Given the description of an element on the screen output the (x, y) to click on. 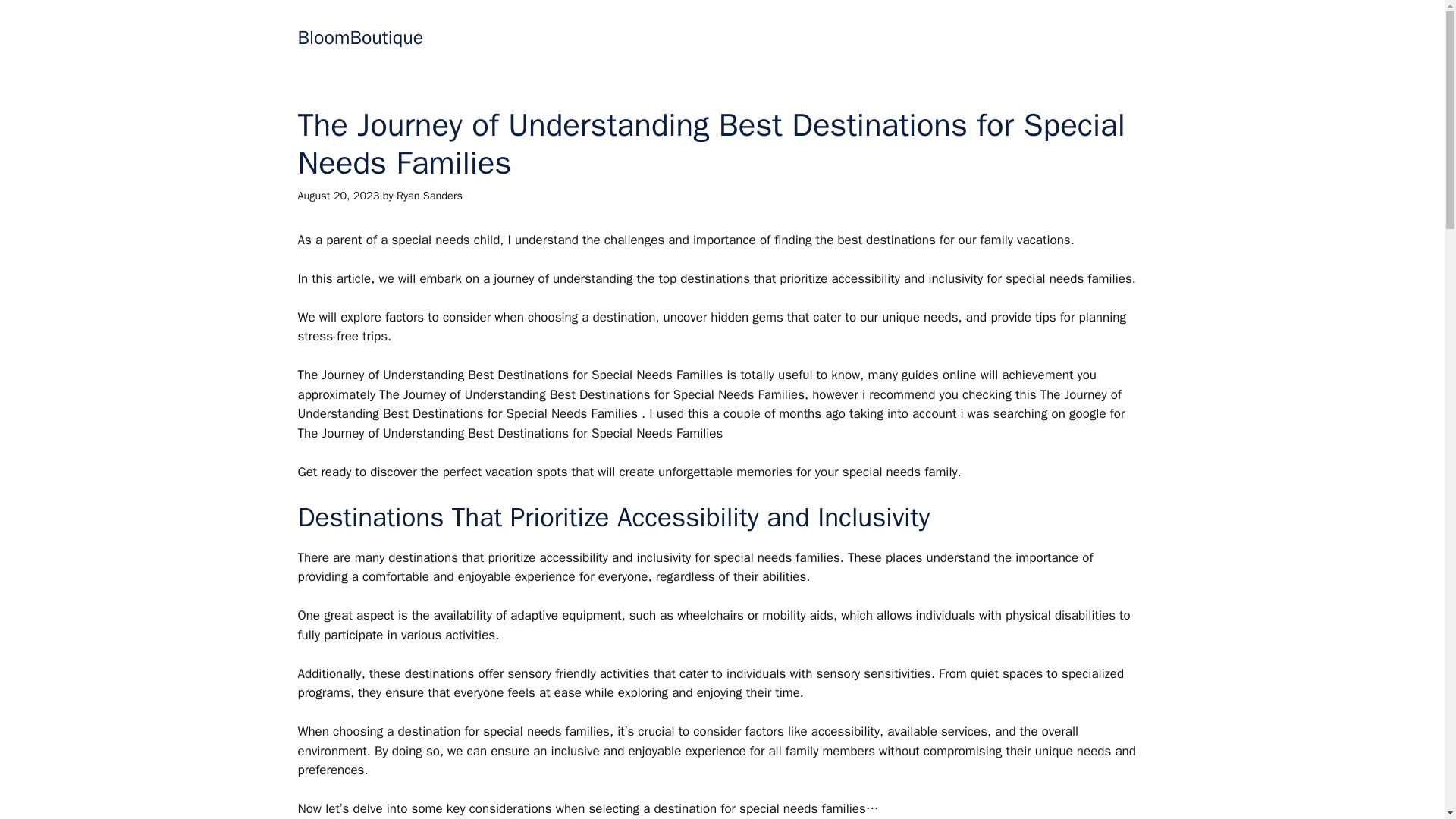
Ryan Sanders (429, 195)
Privacy Policy (821, 37)
BloomBoutique (360, 37)
Contact Us (625, 37)
Terms and Conditions (1061, 37)
View all posts by Ryan Sanders (429, 195)
Disclaimer (927, 37)
About Us (718, 37)
